Given the description of an element on the screen output the (x, y) to click on. 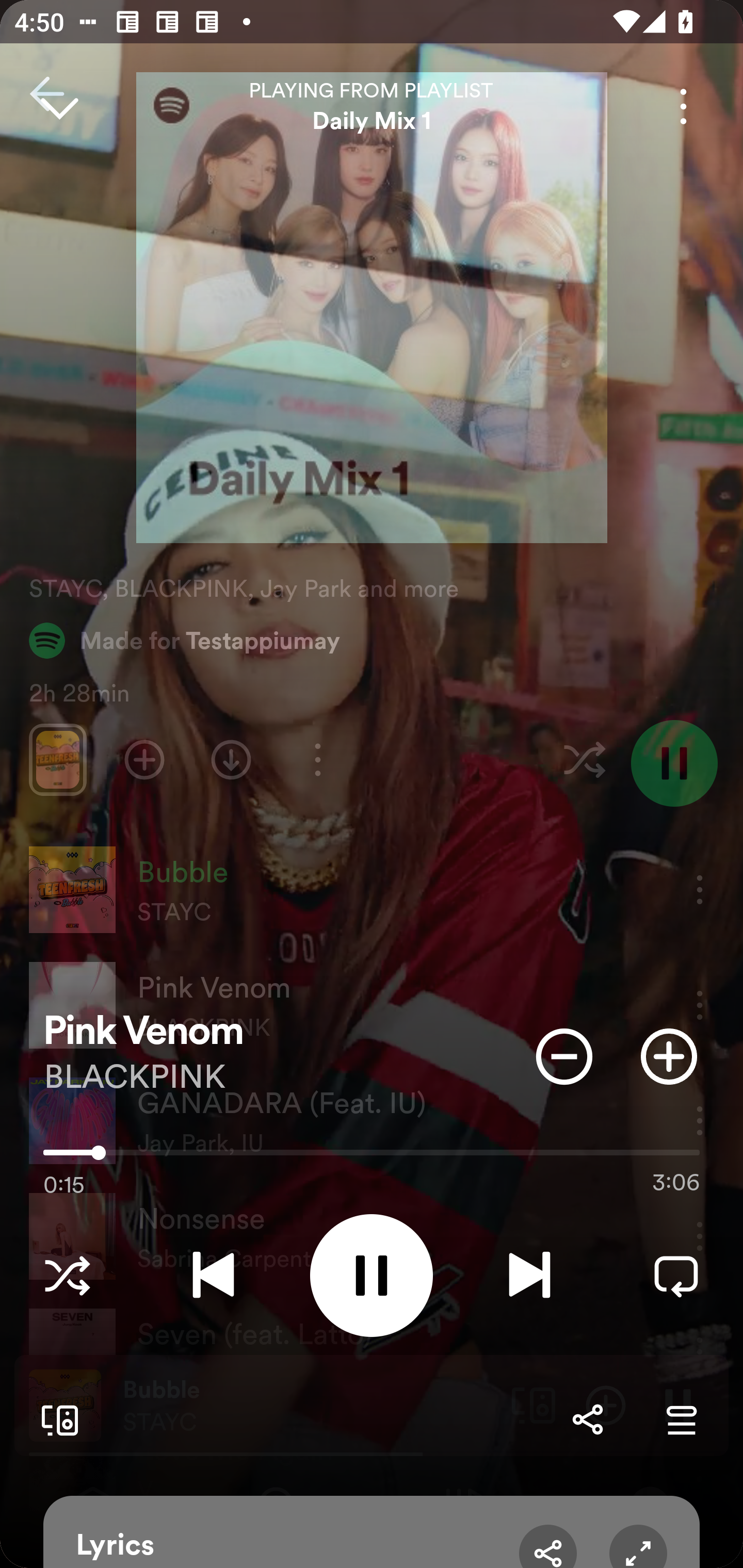
Close (59, 106)
More options for song Pink Venom (683, 106)
PLAYING FROM PLAYLIST Daily Mix 1 (371, 106)
Don't play this (564, 1056)
Add item (669, 1056)
0:14 3:06 14988.0 Use volume keys to adjust (371, 1157)
Pause (371, 1275)
Previous (212, 1275)
Next (529, 1275)
Shuffle tracks (66, 1275)
Repeat (676, 1275)
Share (587, 1419)
Go to Queue (681, 1419)
Connect to a device. Opens the devices menu (55, 1419)
Lyrics Share Expand (371, 1531)
Share (547, 1546)
Expand (638, 1546)
